Given the description of an element on the screen output the (x, y) to click on. 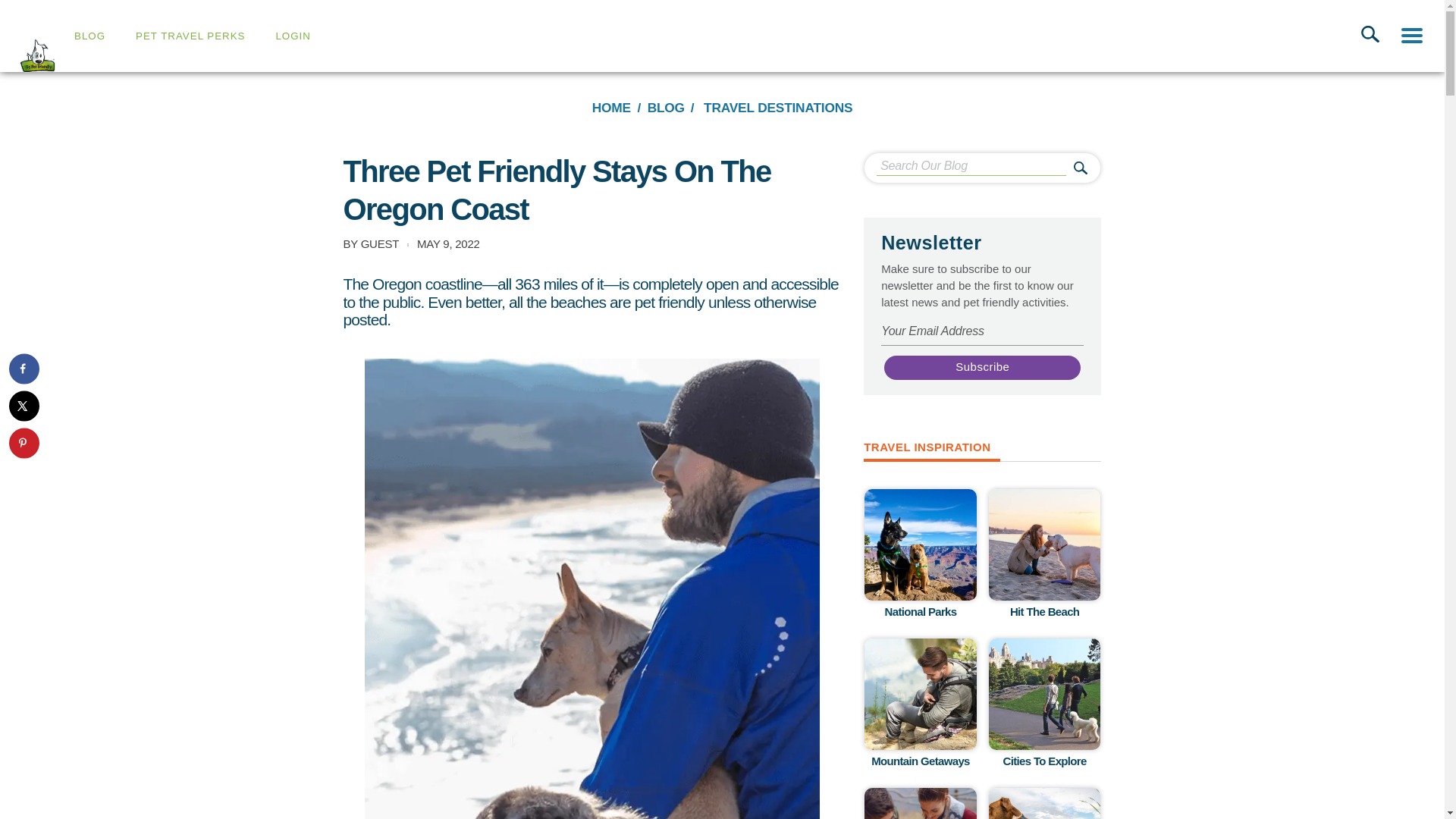
Subscribe (981, 367)
LOGIN (292, 35)
PET TRAVEL PERKS (189, 35)
BLOG (89, 35)
Share on Facebook (23, 368)
Search for: (970, 167)
Save to Pinterest (23, 442)
Share on X (23, 406)
